Given the description of an element on the screen output the (x, y) to click on. 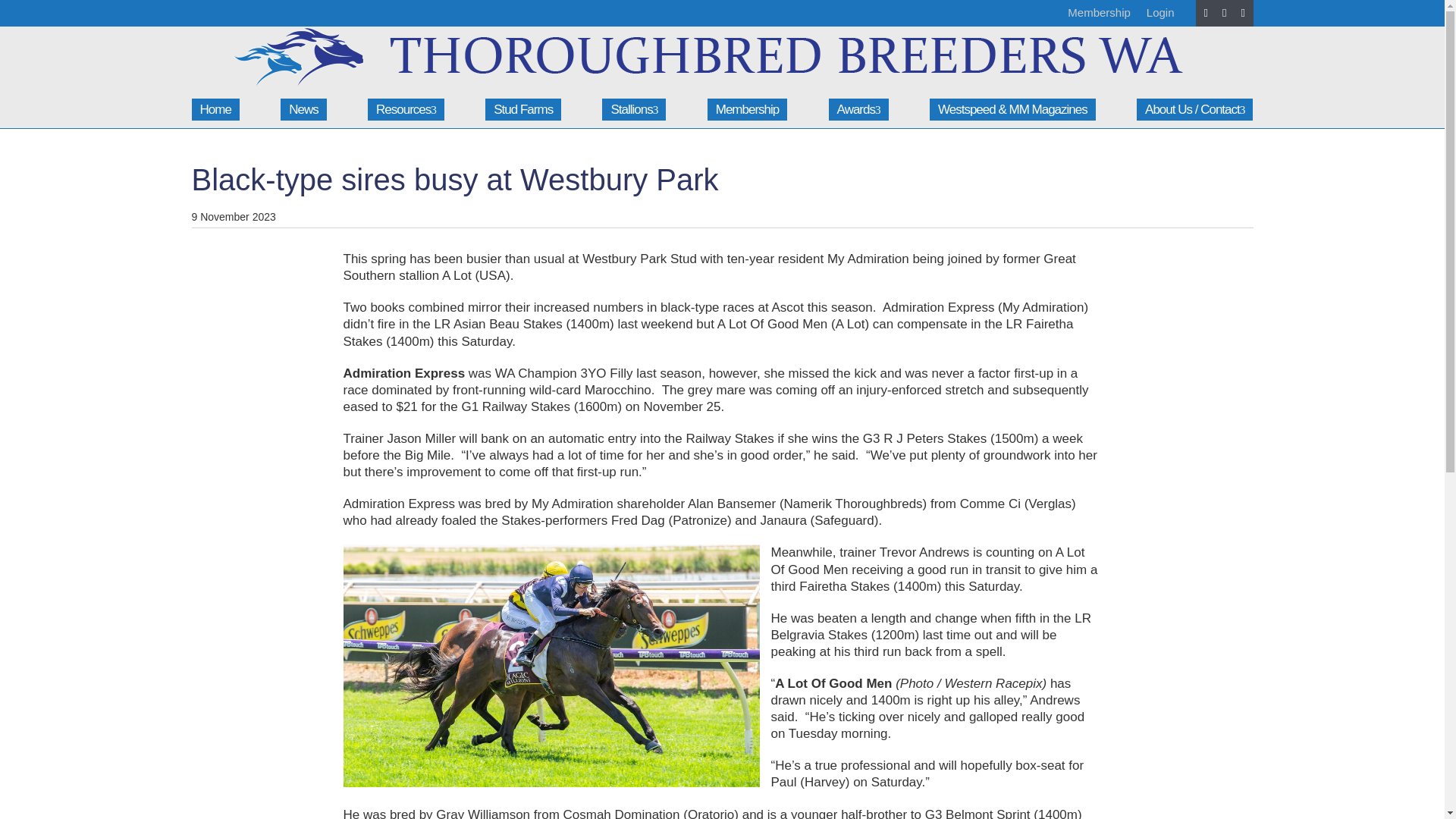
Login (1160, 12)
News (303, 109)
Stud Farms (522, 109)
Home (214, 109)
Awards (858, 109)
Membership (1098, 12)
Stallions (633, 109)
Membership (747, 109)
Resources (406, 109)
